Given the description of an element on the screen output the (x, y) to click on. 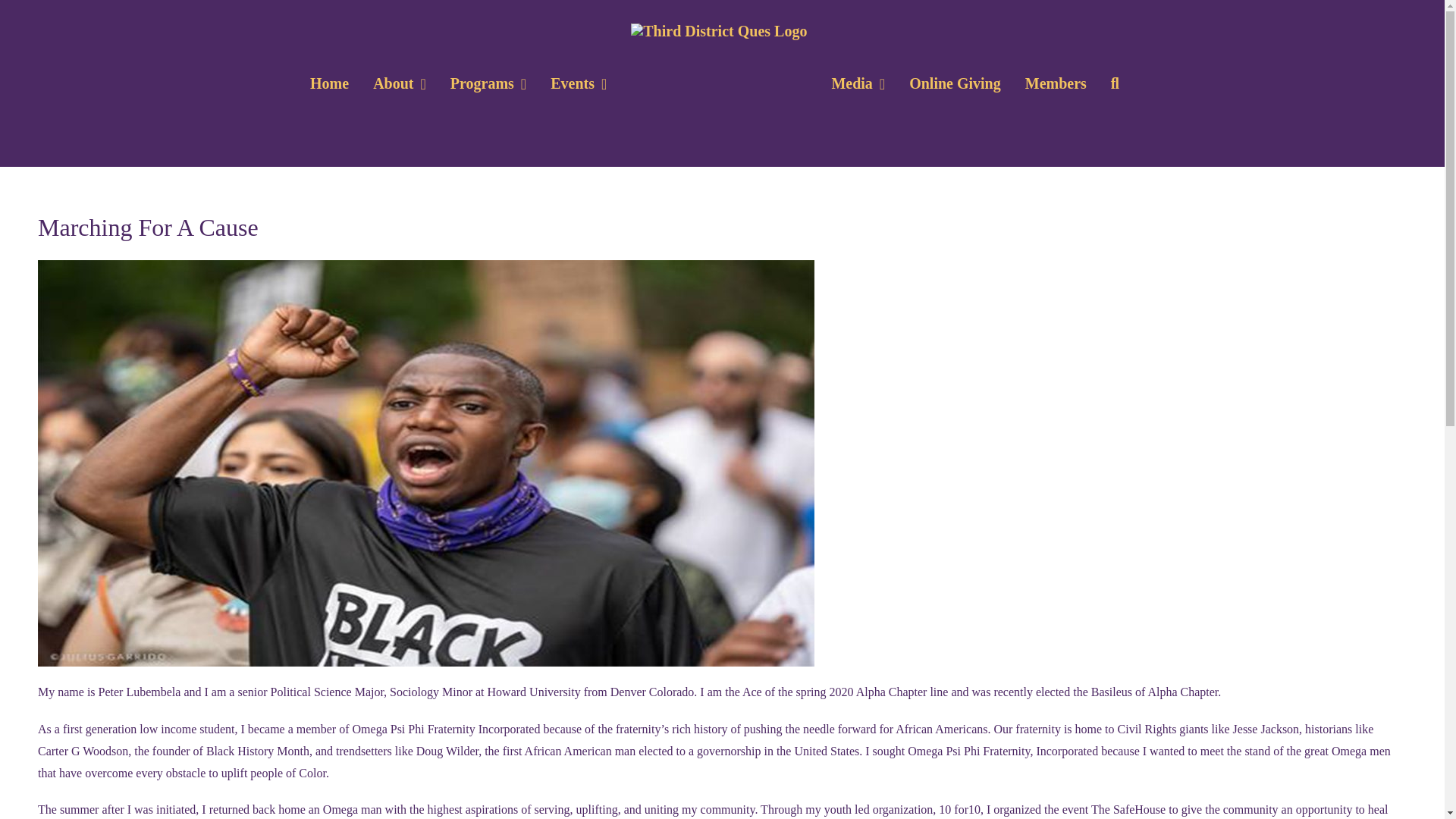
Programs (488, 82)
Home (329, 82)
About (399, 82)
Events (578, 82)
